Given the description of an element on the screen output the (x, y) to click on. 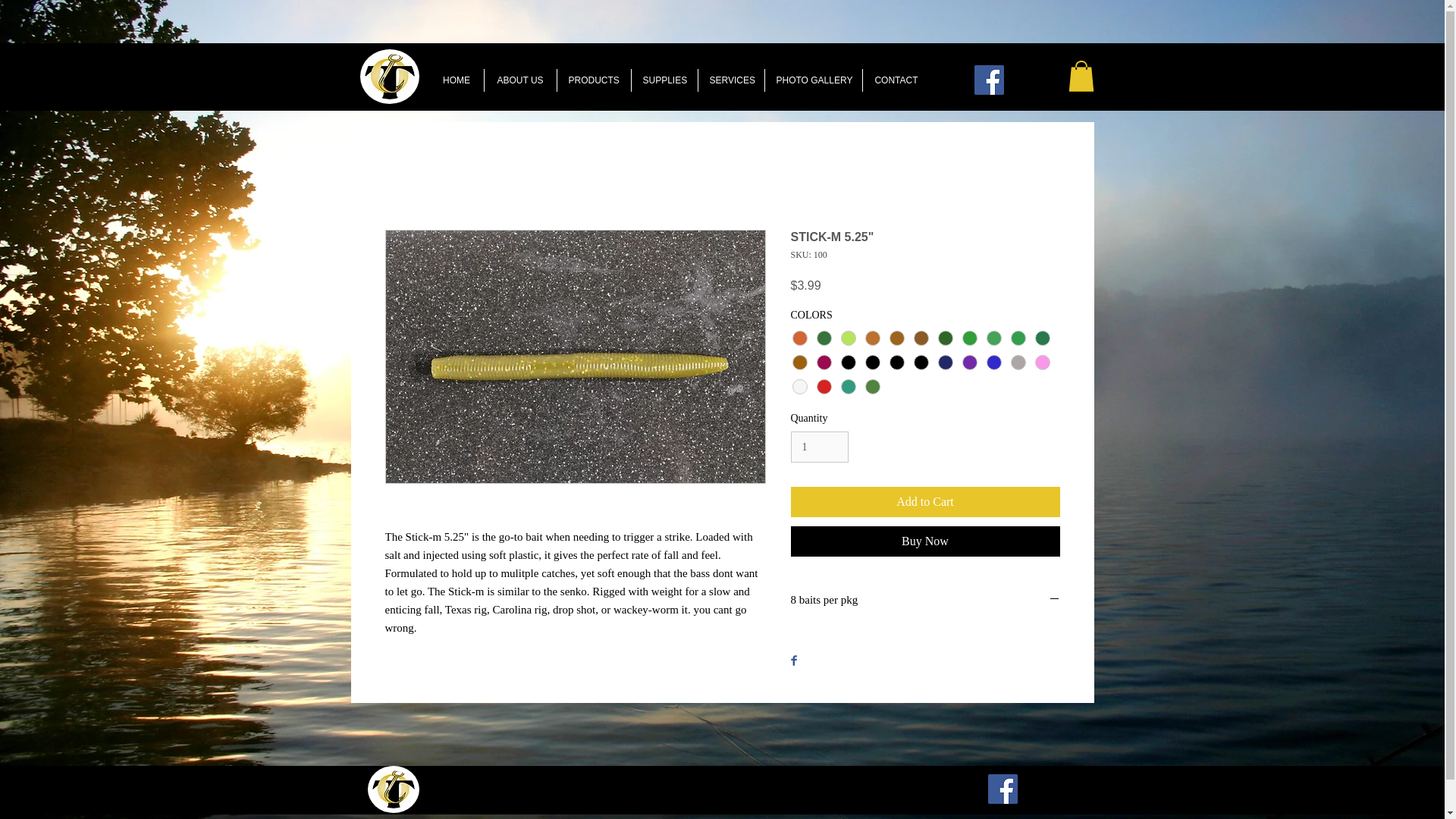
ABOUT US (519, 79)
HOME (456, 79)
CONTACT (896, 79)
Add to Cart (924, 501)
8 baits per pkg (924, 600)
Buy Now (924, 541)
PHOTO GALLERY (812, 79)
SERVICES (729, 79)
